Given the description of an element on the screen output the (x, y) to click on. 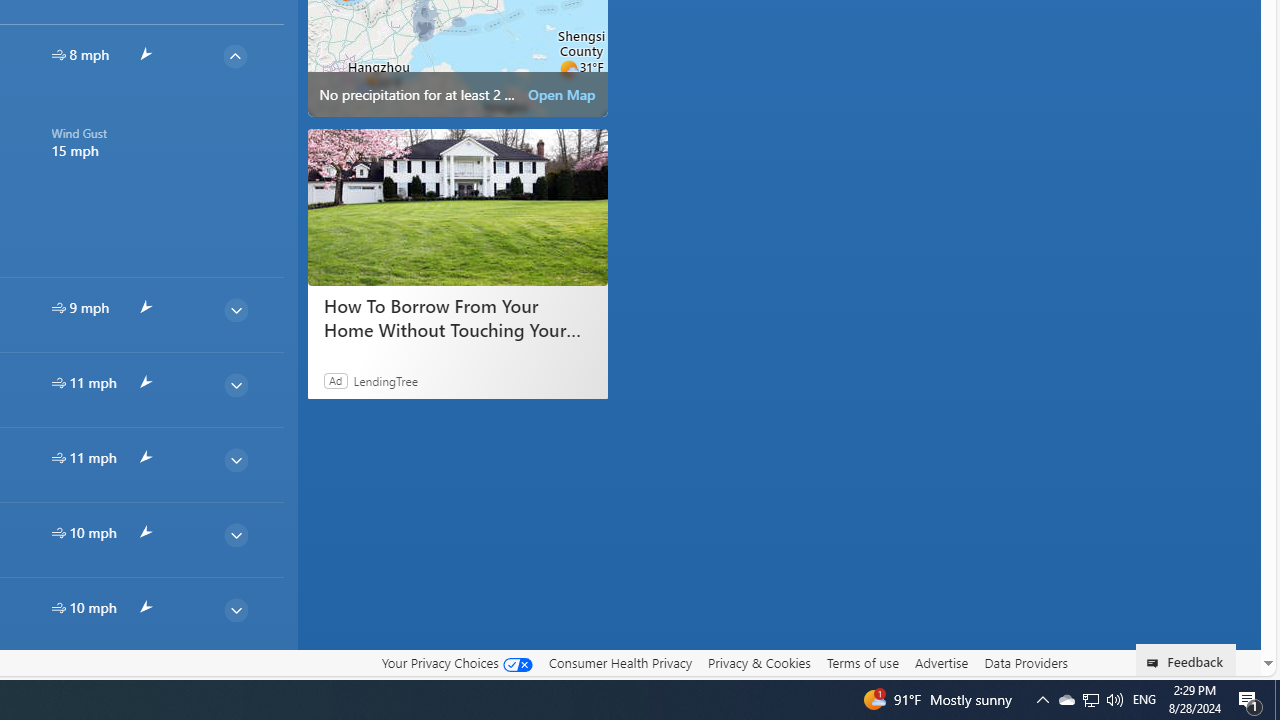
Your Privacy Choices (456, 662)
Privacy & Cookies (759, 662)
Privacy & Cookies (759, 663)
common/thinArrow (235, 684)
Data Providers (1025, 663)
